Given the description of an element on the screen output the (x, y) to click on. 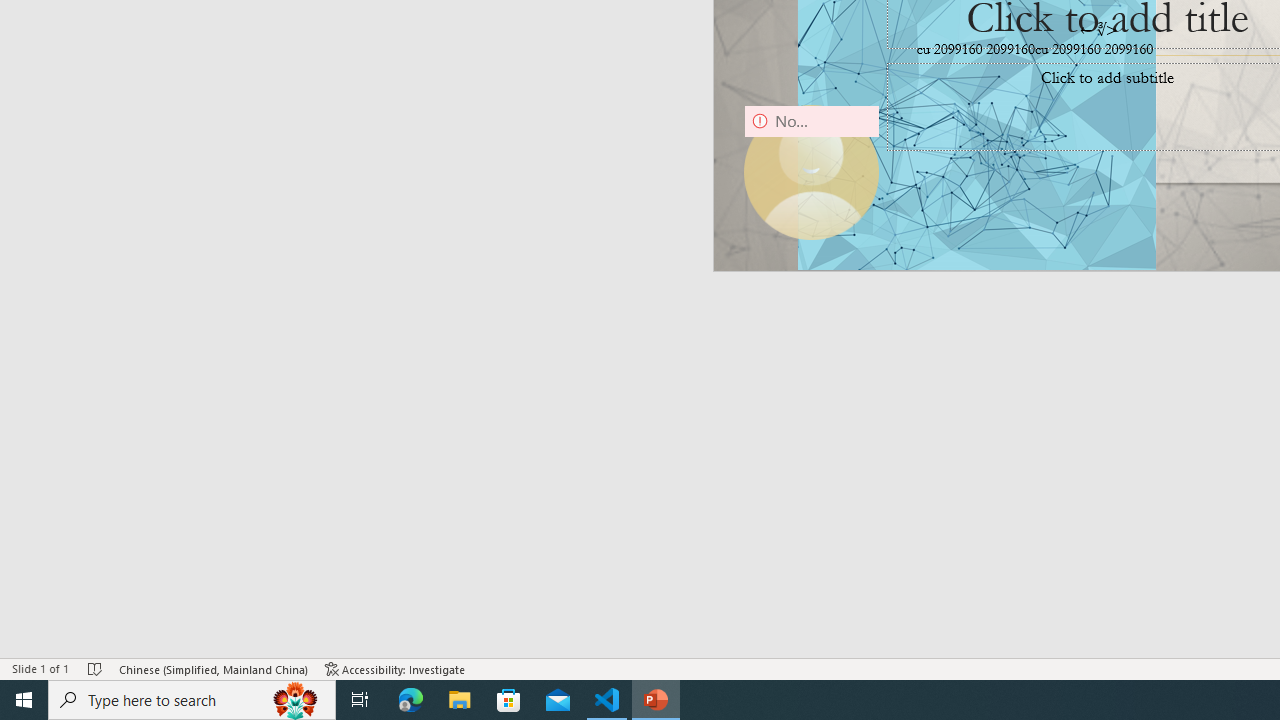
TextBox 7 (1099, 30)
